Given the description of an element on the screen output the (x, y) to click on. 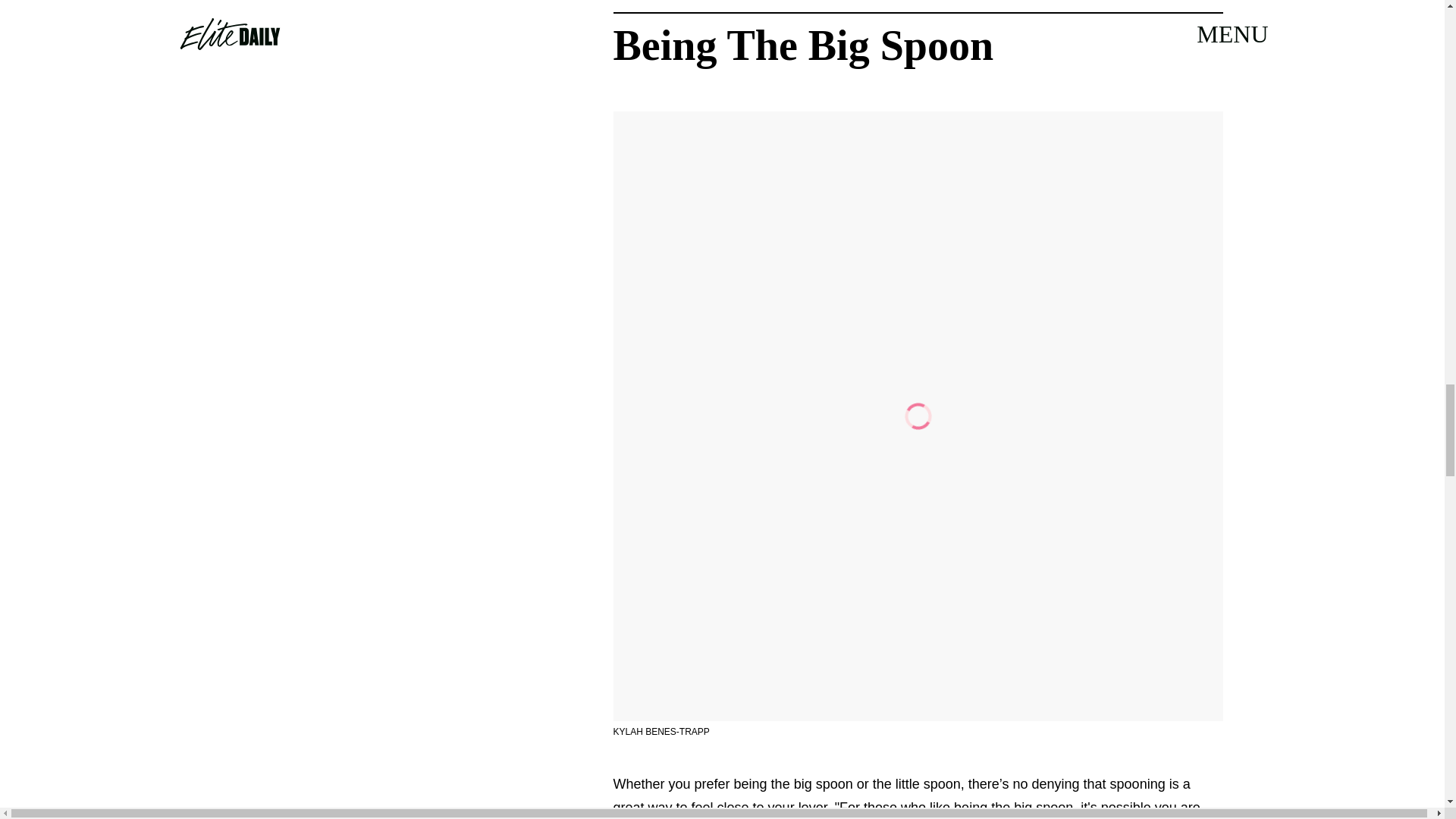
those who like being the big spoon (968, 809)
